Given the description of an element on the screen output the (x, y) to click on. 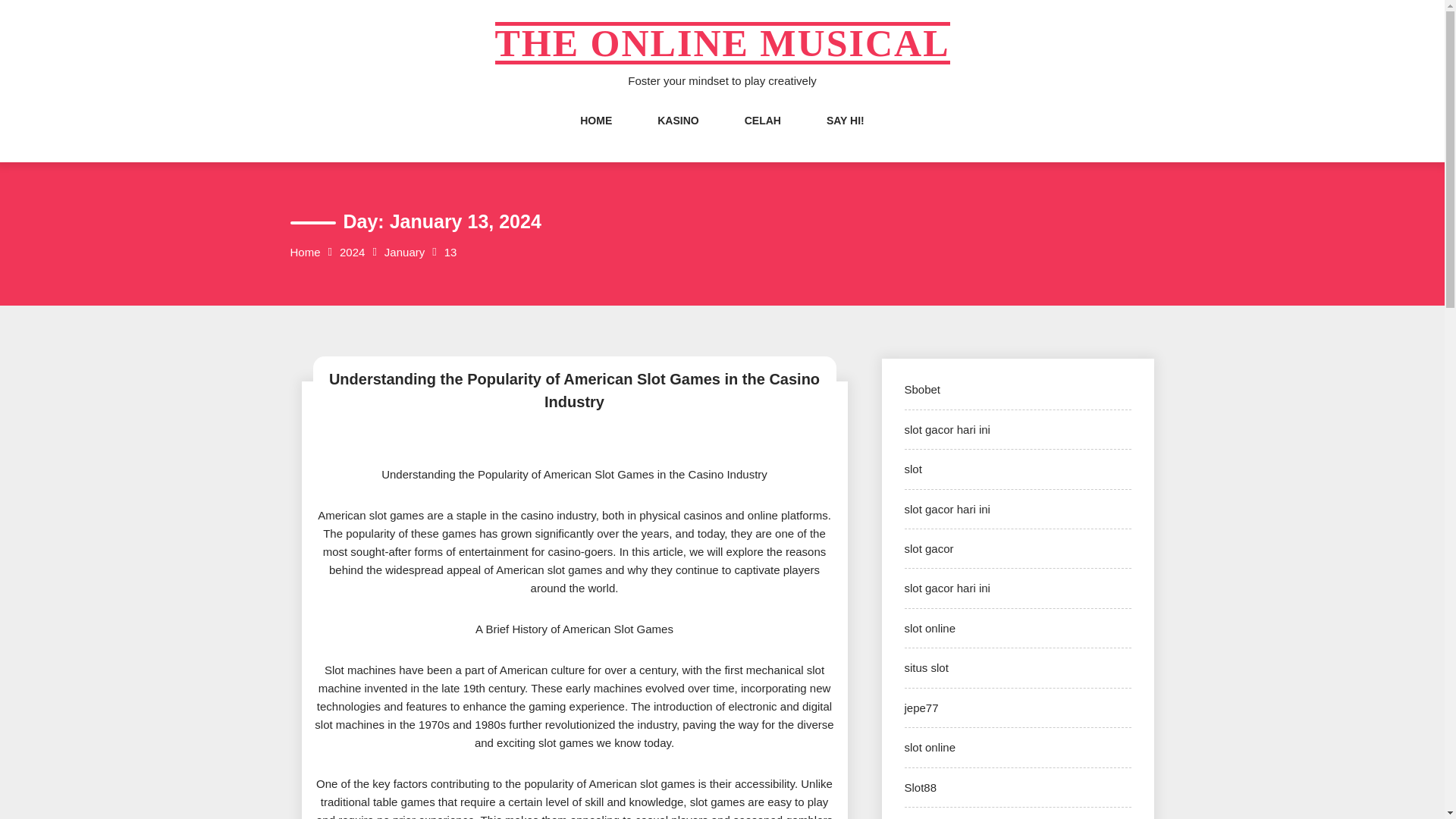
Sbobet (922, 389)
slot online (929, 627)
KASINO (678, 135)
jepe77 (920, 707)
situs slot (925, 667)
THE ONLINE MUSICAL (722, 43)
January (404, 251)
slot (912, 468)
Slot88 (920, 787)
